Given the description of an element on the screen output the (x, y) to click on. 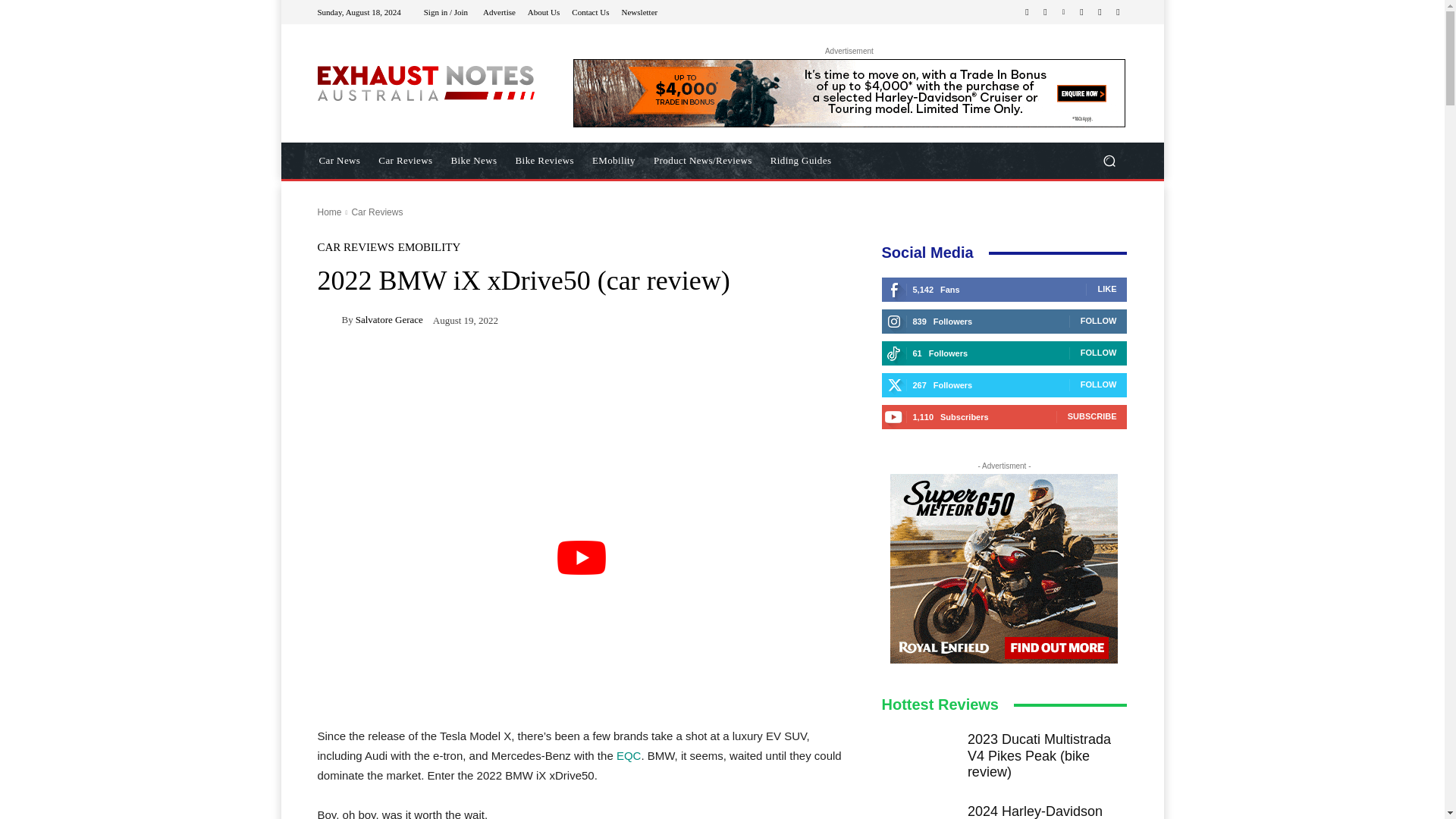
Bike Reviews (544, 160)
TikTok (1080, 12)
Twitter (1099, 12)
Car Reviews (405, 160)
Instagram (1044, 12)
Youtube (1117, 12)
Car News (338, 160)
EMOBILITY (429, 247)
Contact Us (590, 11)
CAR REVIEWS (355, 247)
